Given the description of an element on the screen output the (x, y) to click on. 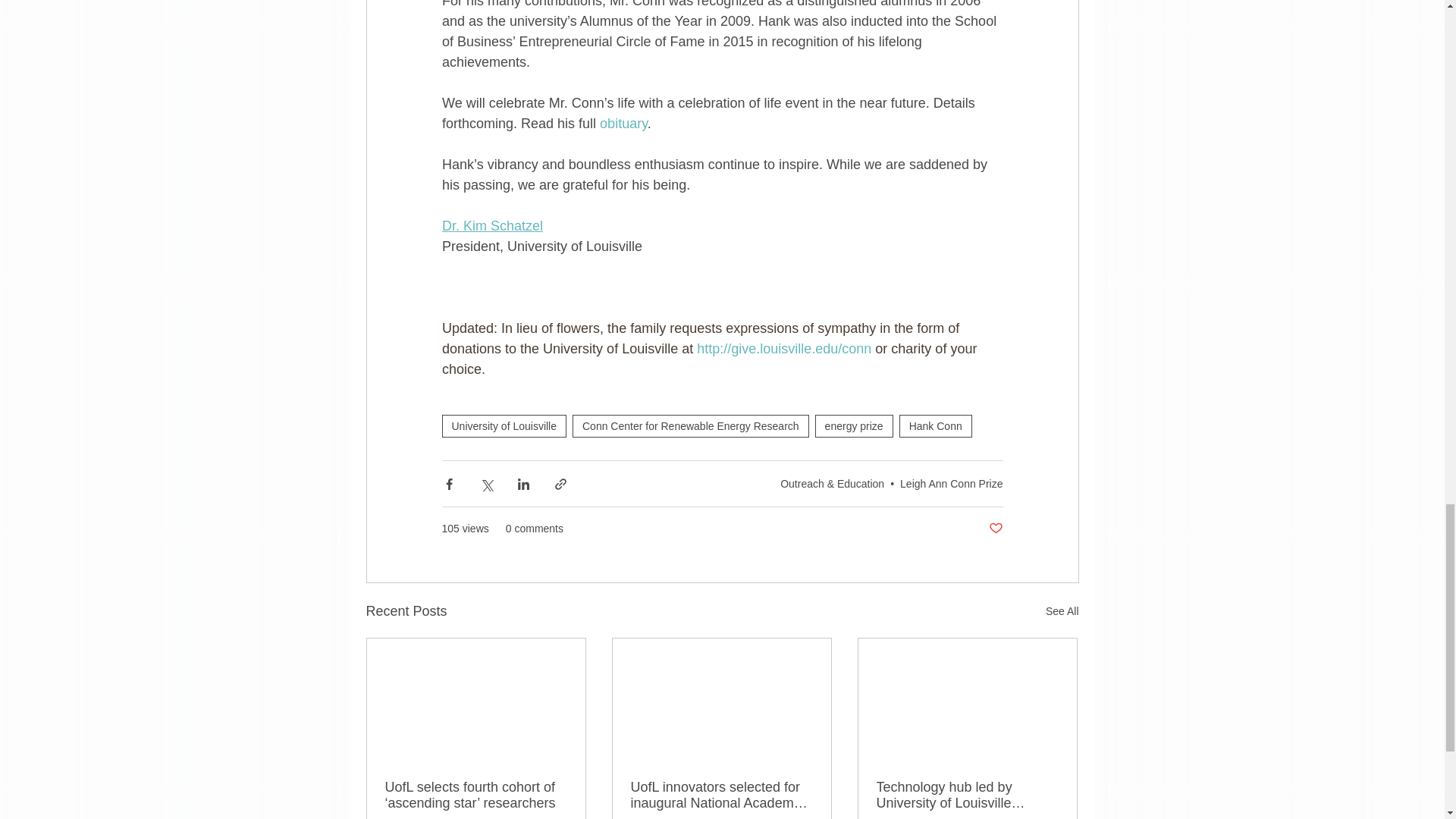
obituary (623, 123)
Hank Conn (935, 425)
Leigh Ann Conn Prize (951, 483)
Dr. Kim Schatzel (491, 225)
Conn Center for Renewable Energy Research (690, 425)
University of Louisville (503, 425)
energy prize (854, 425)
